Given the description of an element on the screen output the (x, y) to click on. 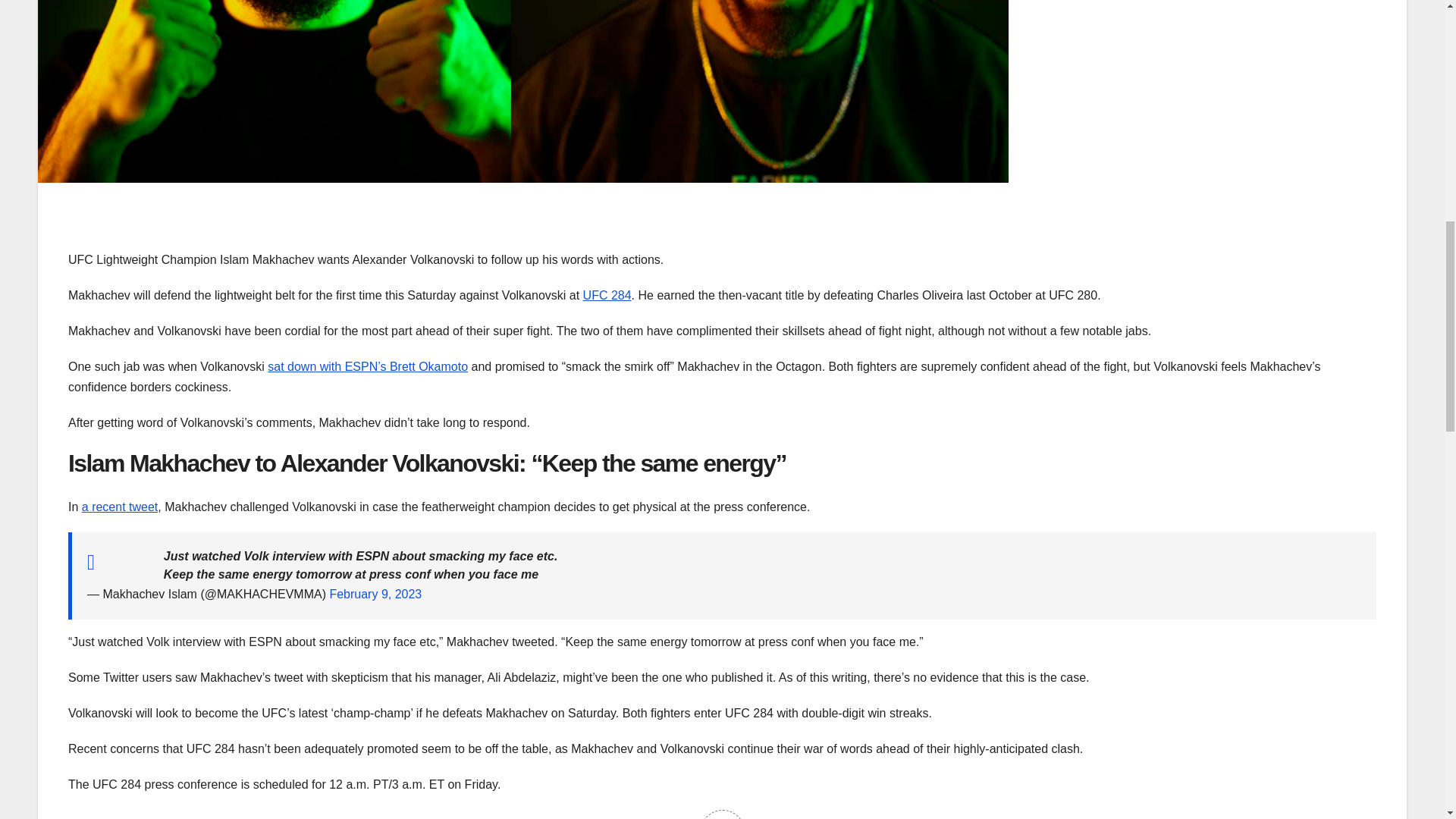
February 9, 2023 (375, 594)
a recent tweet (119, 506)
UFC 284 (607, 295)
